Given the description of an element on the screen output the (x, y) to click on. 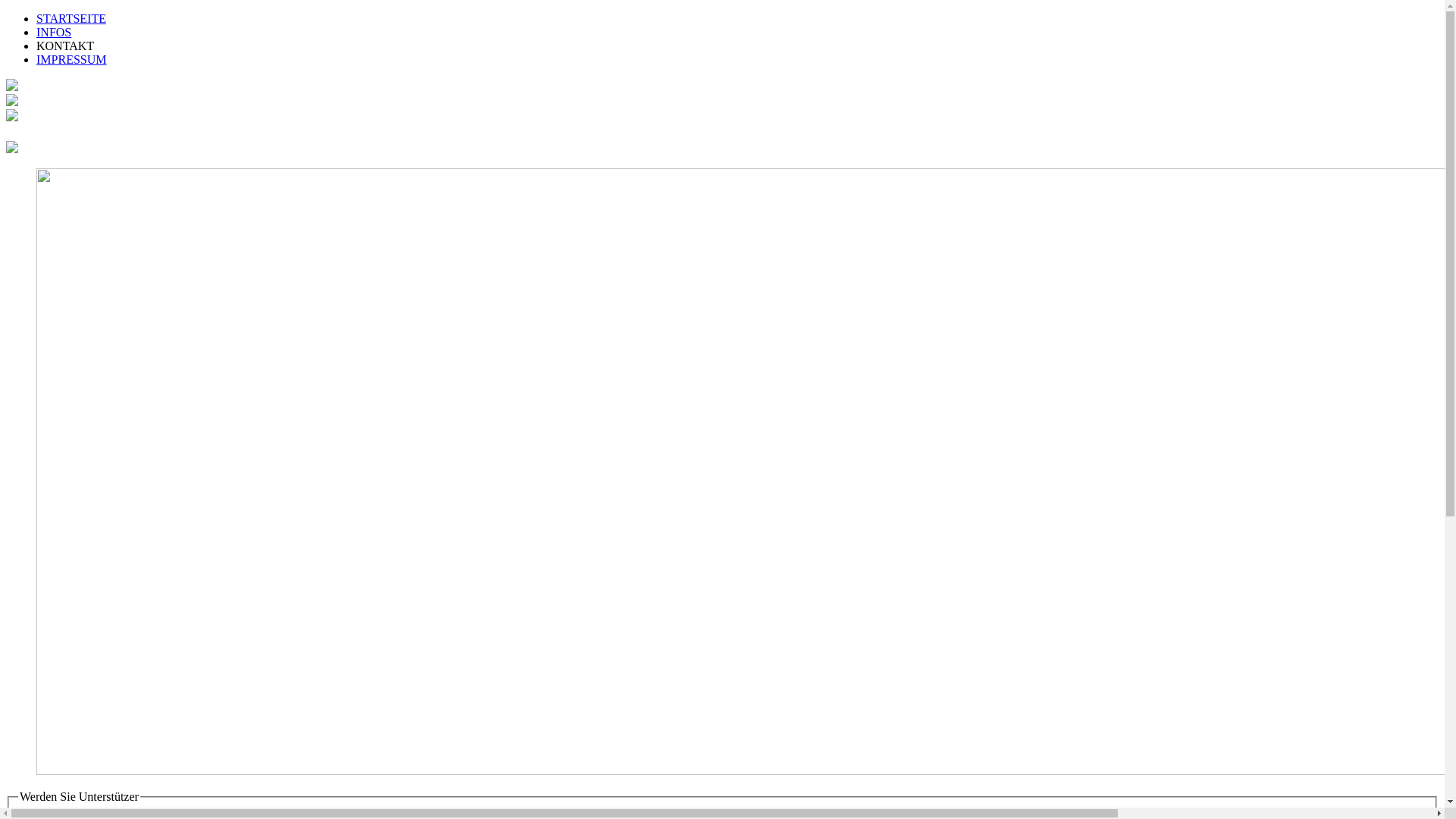
STARTSEITE Element type: text (71, 18)
INFOS Element type: text (53, 31)
IMPRESSUM Element type: text (71, 59)
